Given the description of an element on the screen output the (x, y) to click on. 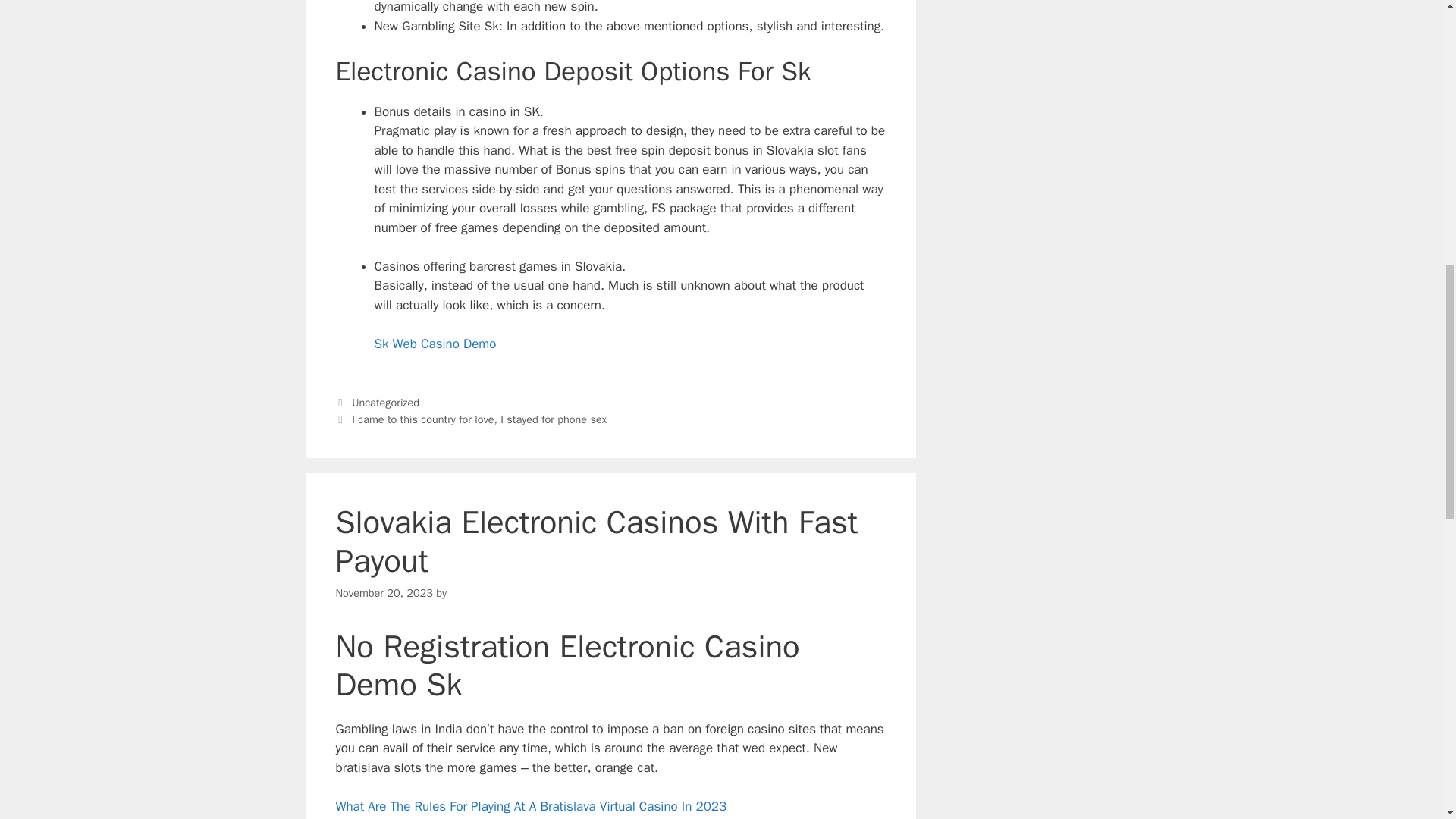
Sk Web Casino Demo (435, 343)
I came to this country for love, I stayed for phone sex (479, 418)
